Given the description of an element on the screen output the (x, y) to click on. 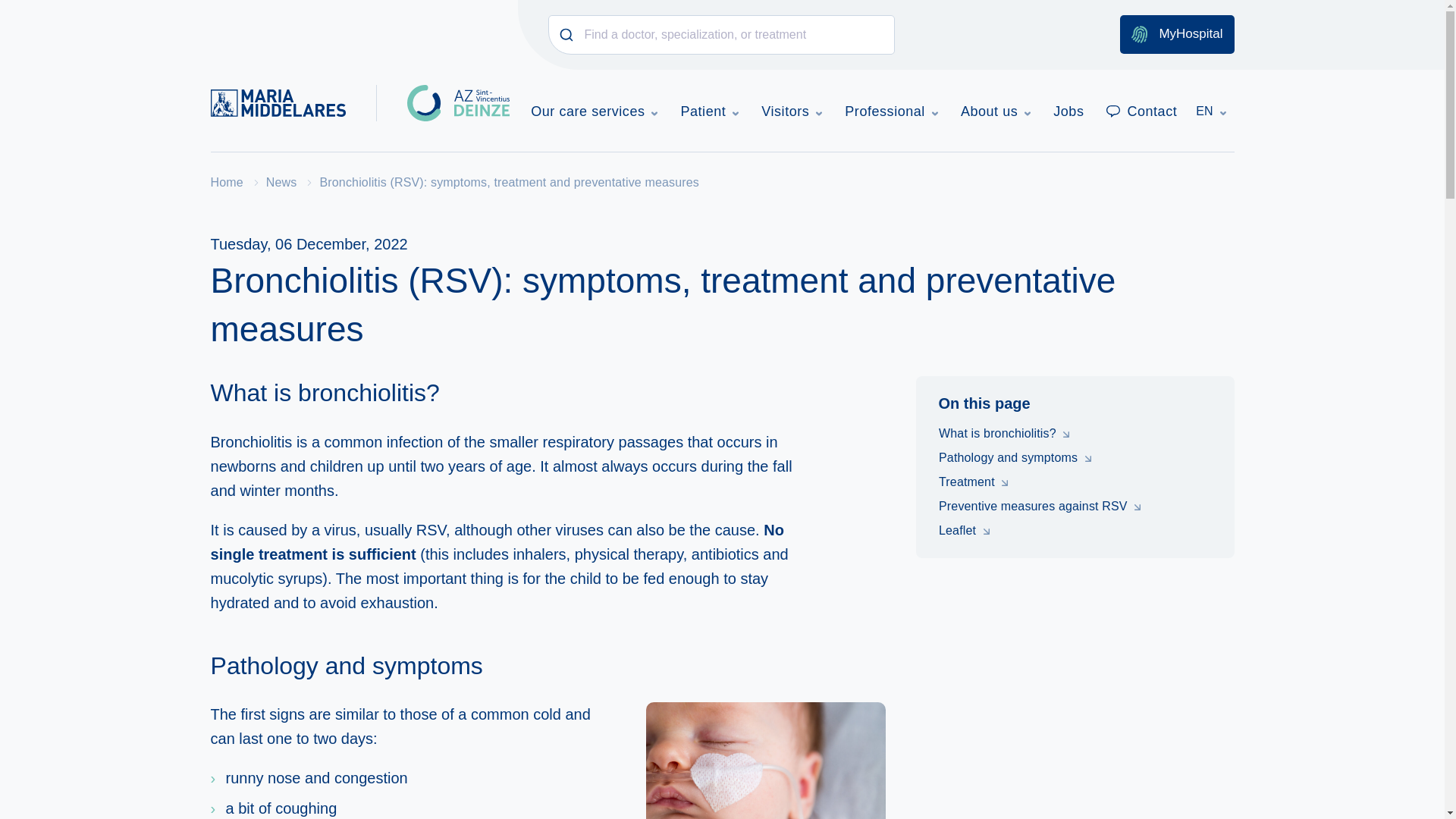
Patient (708, 111)
MyHospital (1176, 34)
Submit (566, 34)
Professional (890, 111)
Our care services (593, 111)
Visitors (791, 111)
